Given the description of an element on the screen output the (x, y) to click on. 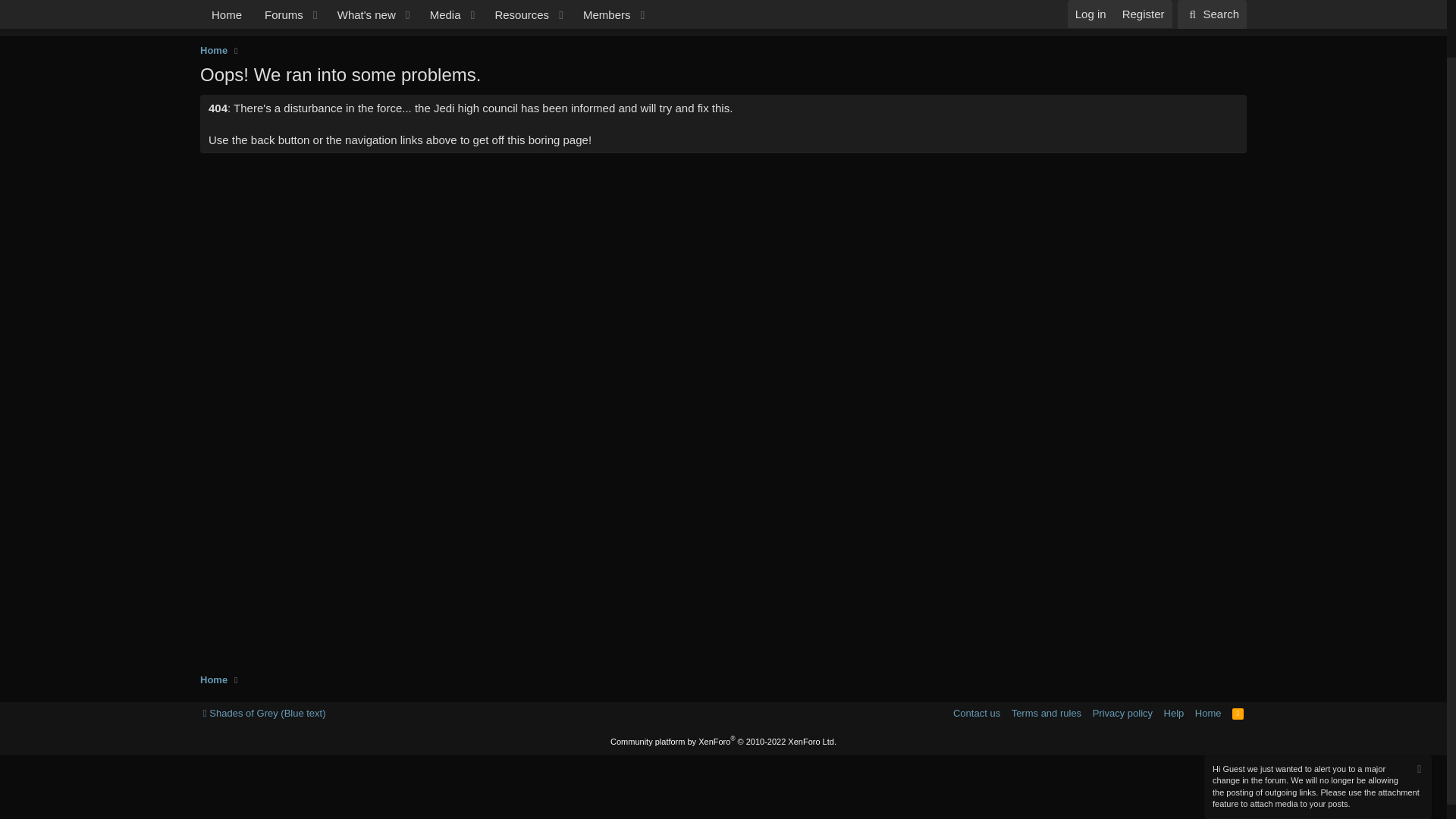
Home (213, 50)
Search (1211, 6)
Forums (722, 40)
Media (278, 6)
Search (441, 6)
Resources (1211, 6)
Members (516, 6)
Latest activity (426, 22)
